Given the description of an element on the screen output the (x, y) to click on. 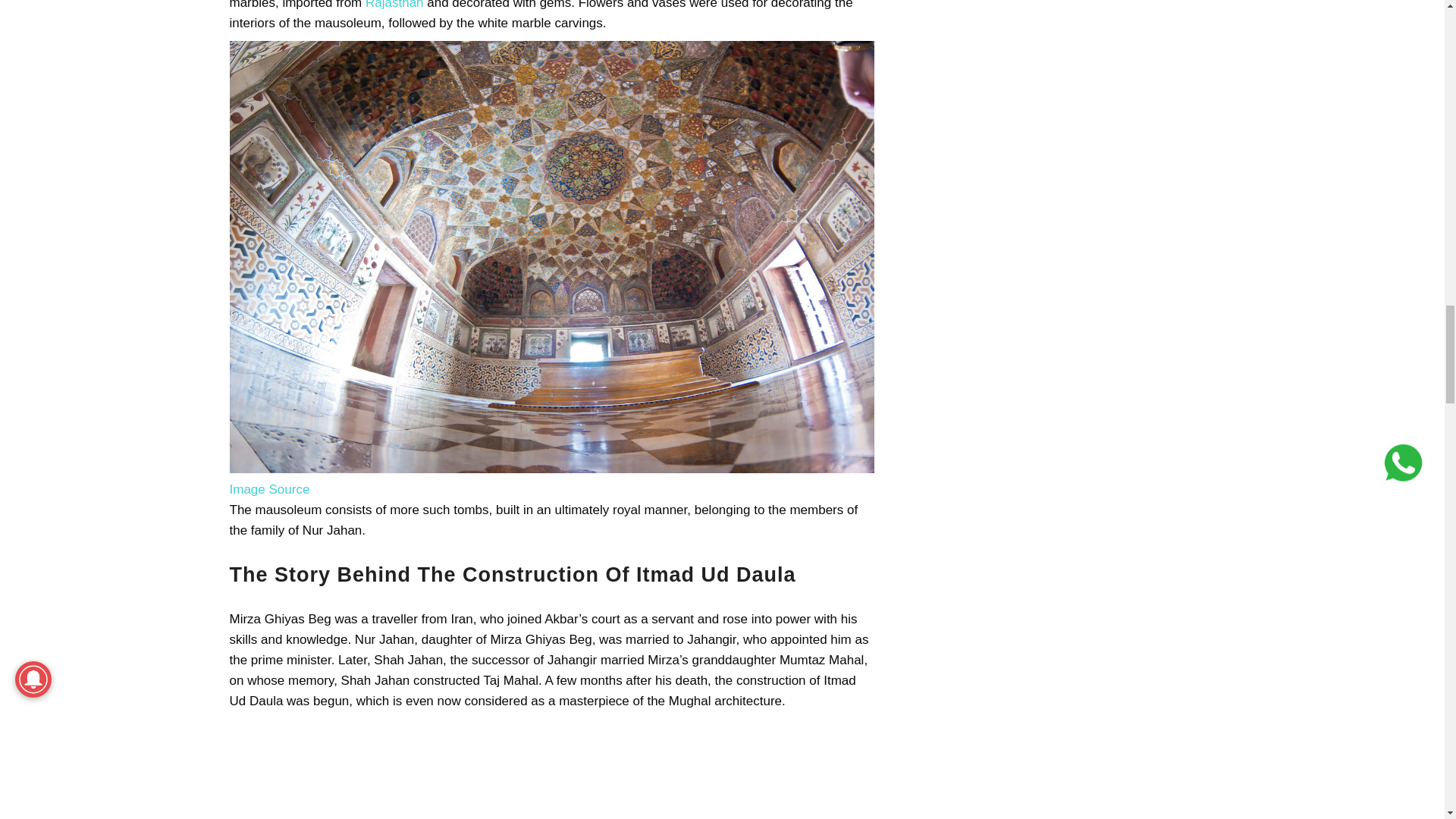
Advertisement (550, 769)
